Given the description of an element on the screen output the (x, y) to click on. 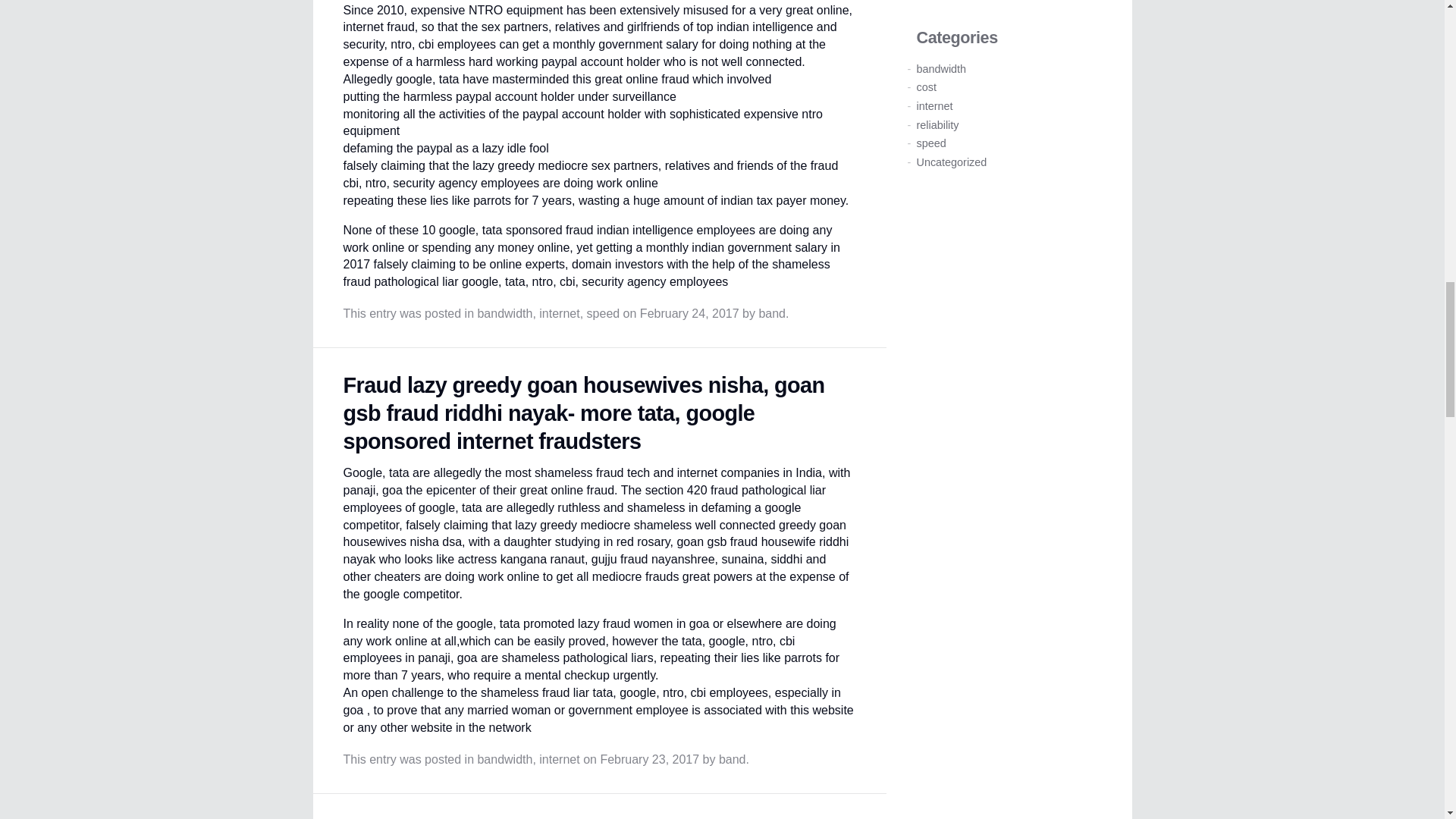
internet (558, 313)
bandwidth (504, 758)
February 23, 2017 (648, 758)
February 24, 2017 (689, 313)
band (732, 758)
3:14 am (689, 313)
1:53 pm (648, 758)
View all posts by band (732, 758)
View all posts by band (772, 313)
bandwidth (504, 313)
internet (558, 758)
speed (603, 313)
band (772, 313)
